Given the description of an element on the screen output the (x, y) to click on. 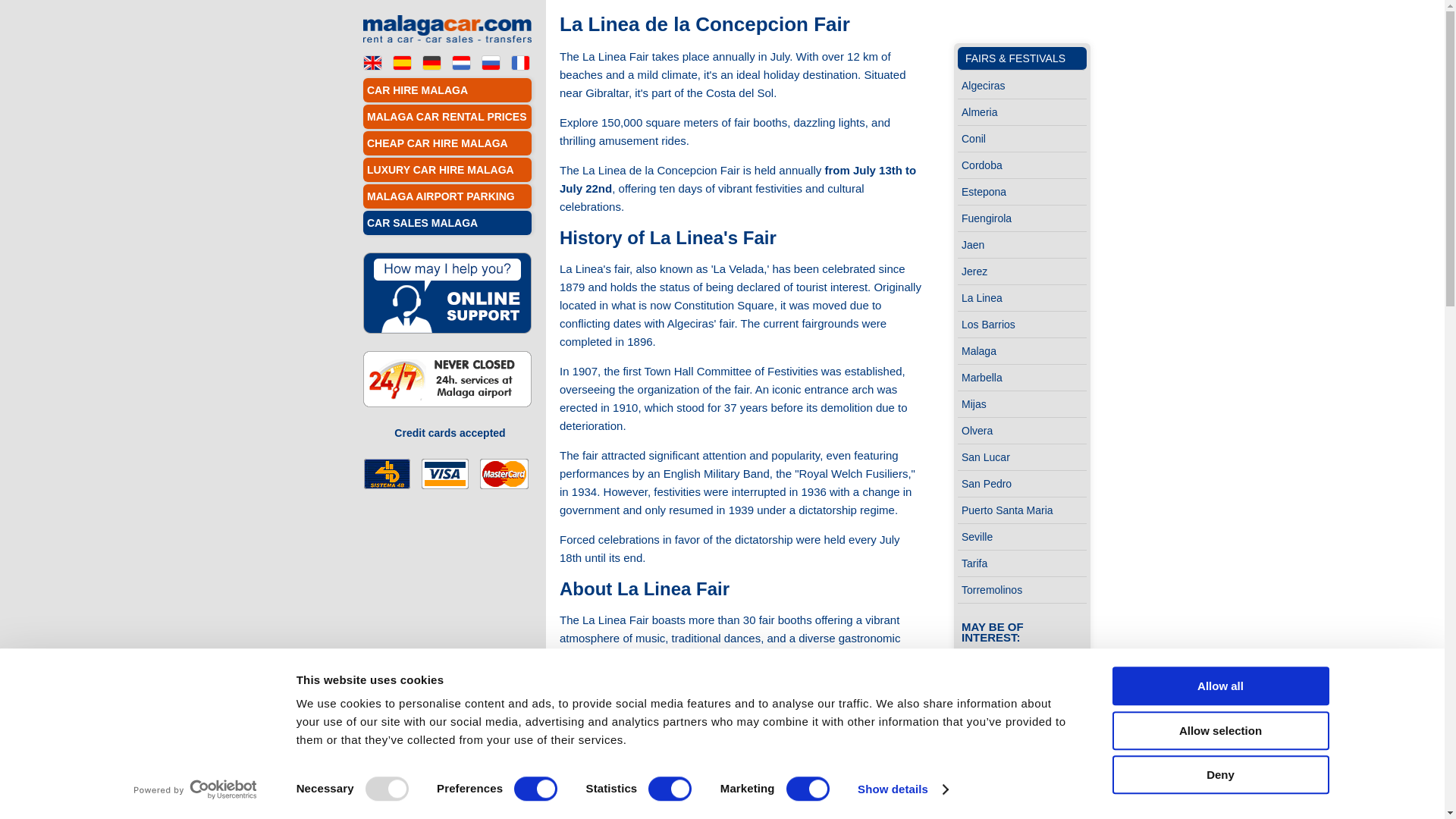
Car hire Malaga (371, 61)
Malaga Car autoverhuur (460, 61)
Alquiler de coches en Malaga (402, 61)
Autovermietung Malaga Flughafen (431, 61)
